Given the description of an element on the screen output the (x, y) to click on. 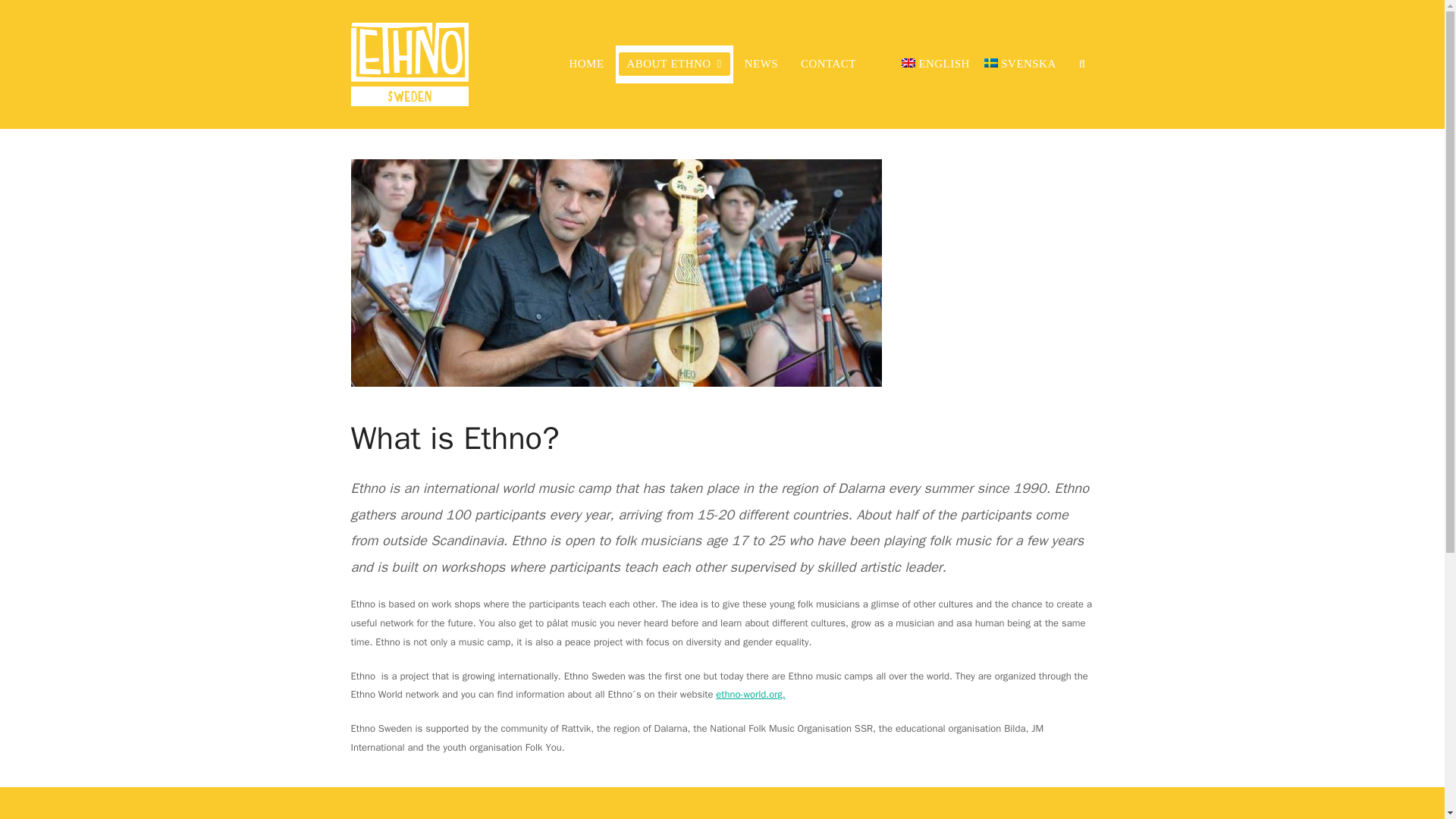
ENGLISH (935, 64)
See the map, opening hours and telephone hours. (464, 541)
English (935, 64)
ethno-world.org. (750, 694)
ABOUT ETHNO (674, 64)
CONTACT (828, 64)
Ethno Hus logotyp (392, 658)
Ethno 2011 (615, 272)
Availability (845, 470)
HOME (586, 64)
SVENSKA (1024, 64)
Svenska (1024, 64)
NEWS (761, 64)
